Given the description of an element on the screen output the (x, y) to click on. 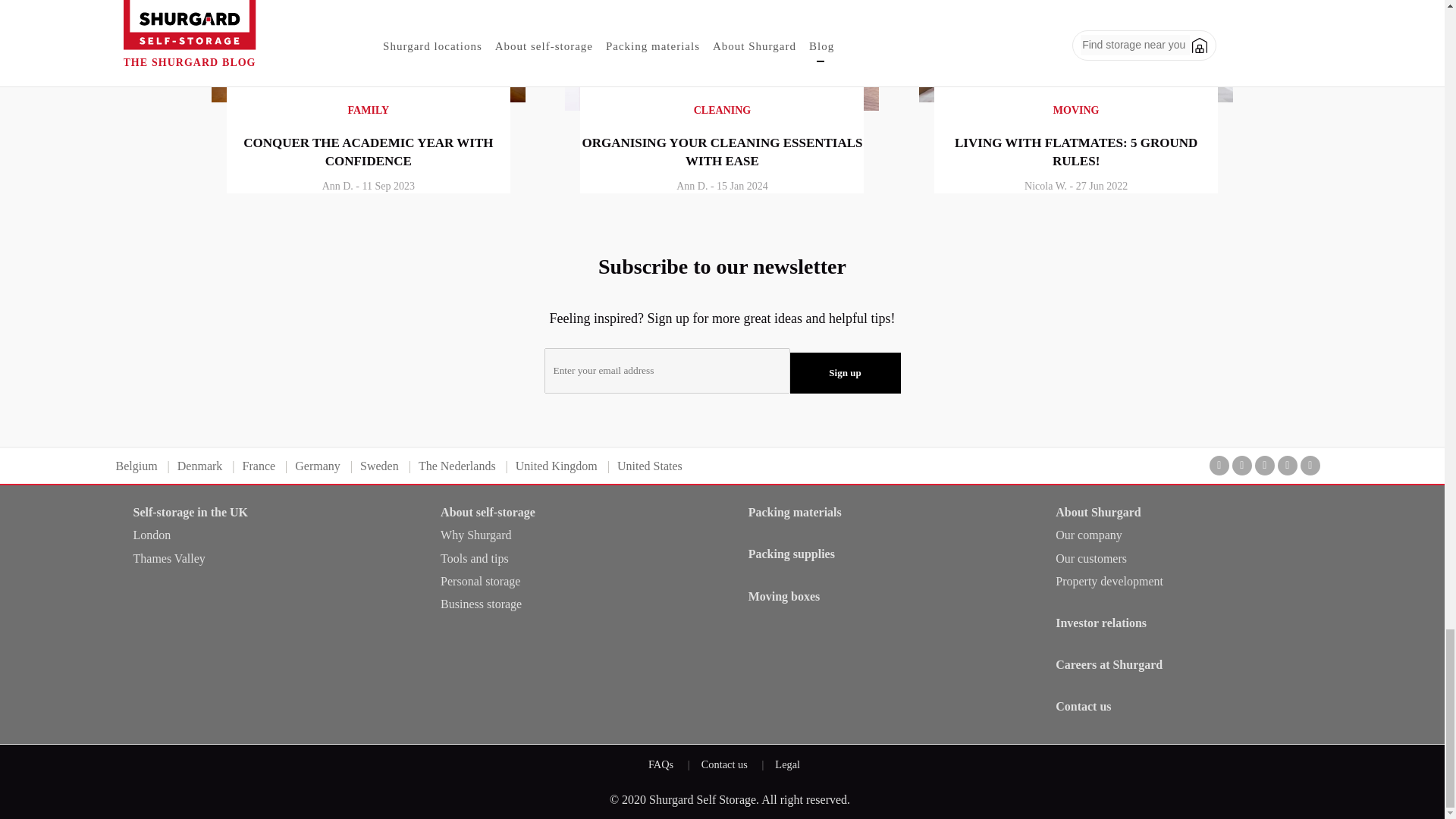
youtube (1265, 465)
Organising Your Cleaning Essentials with Ease (721, 105)
Living with Flatmates: 5 Ground Rules! (1075, 96)
Sign up (845, 372)
Conquer the Academic Year with Confidence (368, 96)
pinterest (1287, 465)
twitter (1241, 465)
linkedin (1310, 465)
facebook (1218, 465)
